Given the description of an element on the screen output the (x, y) to click on. 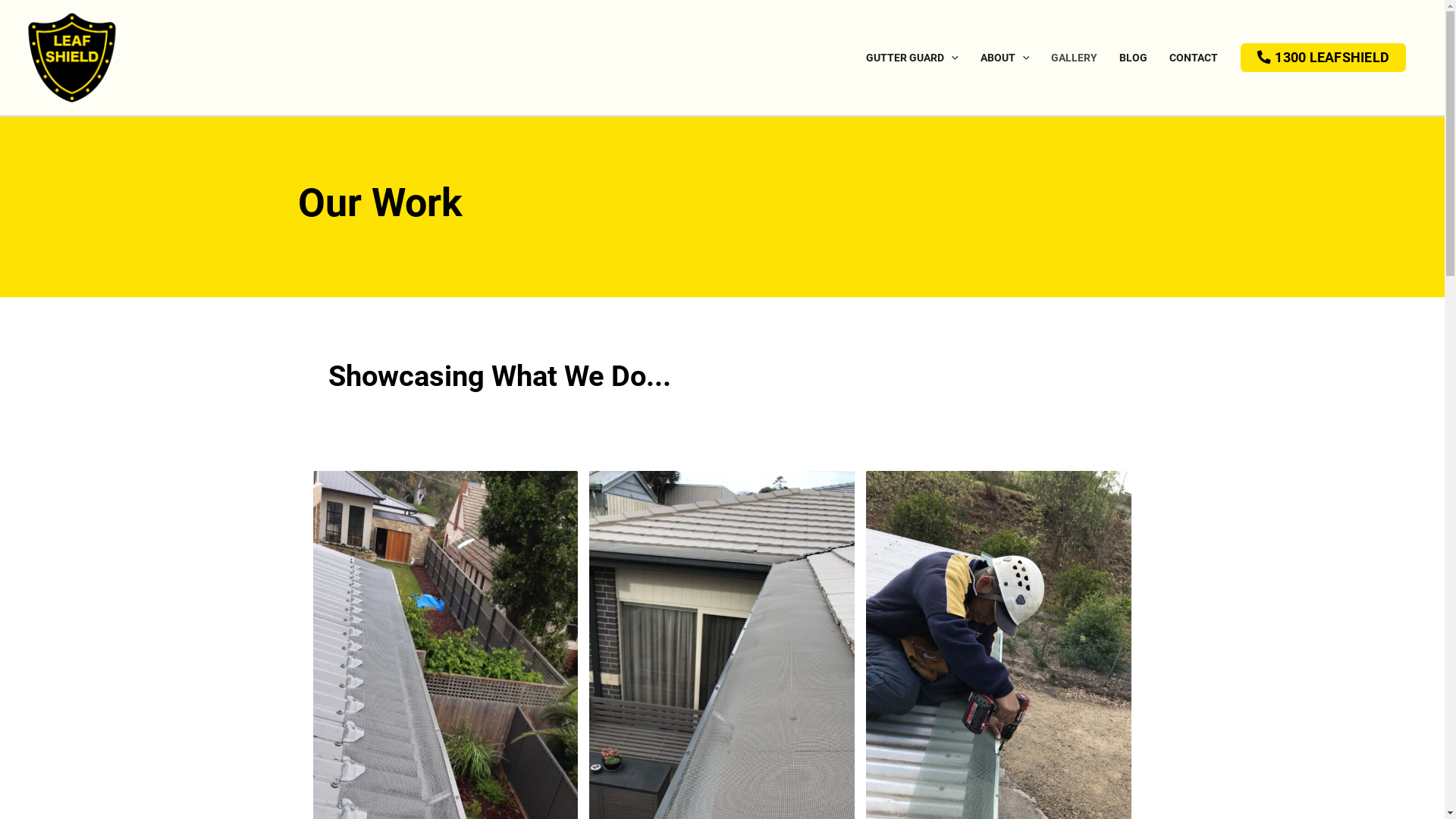
BLOG Element type: text (1132, 58)
GALLERY Element type: text (1074, 58)
CONTACT Element type: text (1192, 58)
1300 LEAFSHIELD Element type: text (1322, 57)
ABOUT Element type: text (1004, 58)
GUTTER GUARD Element type: text (912, 58)
